Given the description of an element on the screen output the (x, y) to click on. 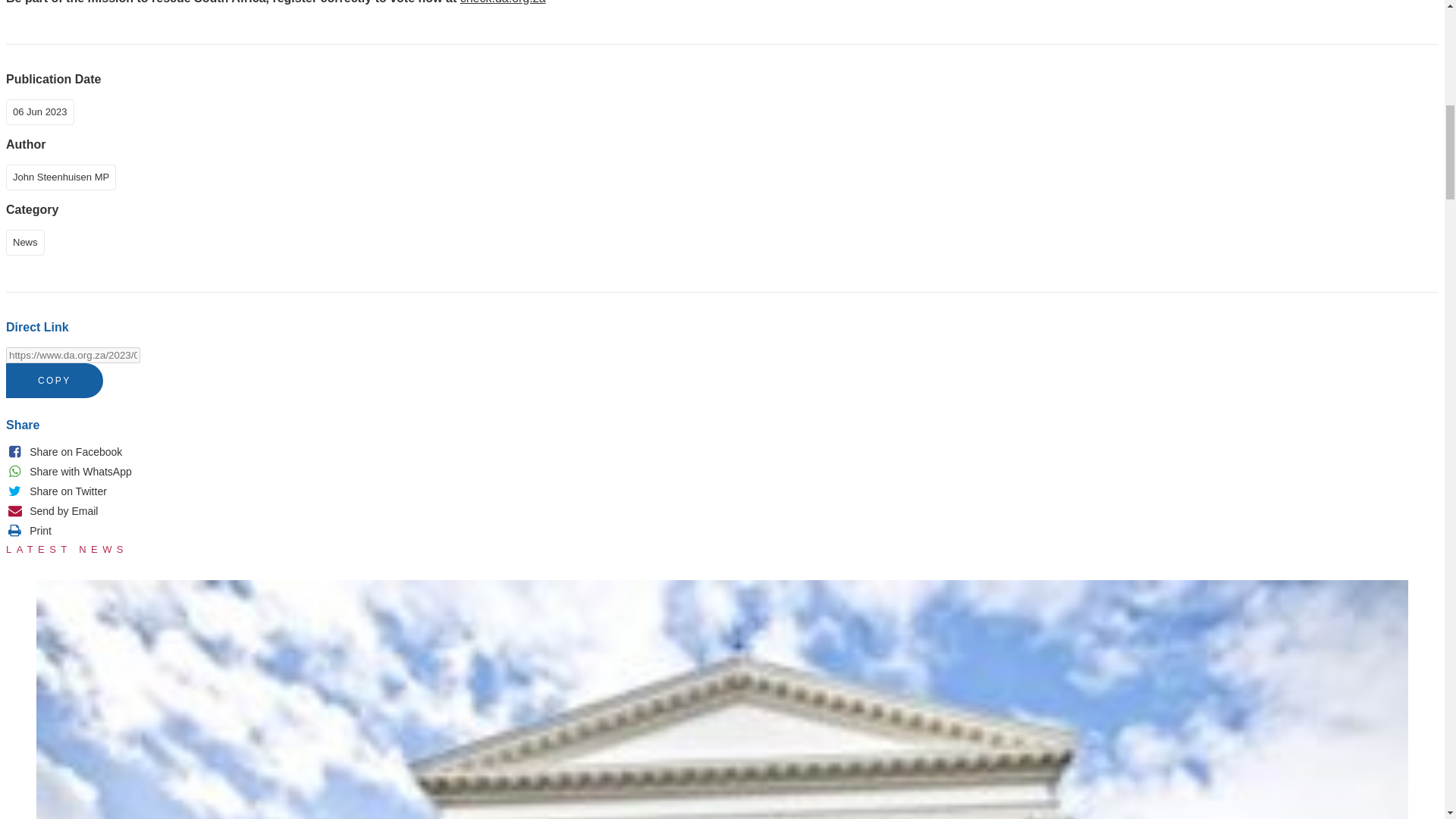
Share on Twitter (55, 490)
Send by Email (51, 510)
News (27, 241)
check.da.org.za (503, 2)
Share on Facebook (63, 451)
Share with WhatsApp (68, 471)
COPY (54, 380)
